Given the description of an element on the screen output the (x, y) to click on. 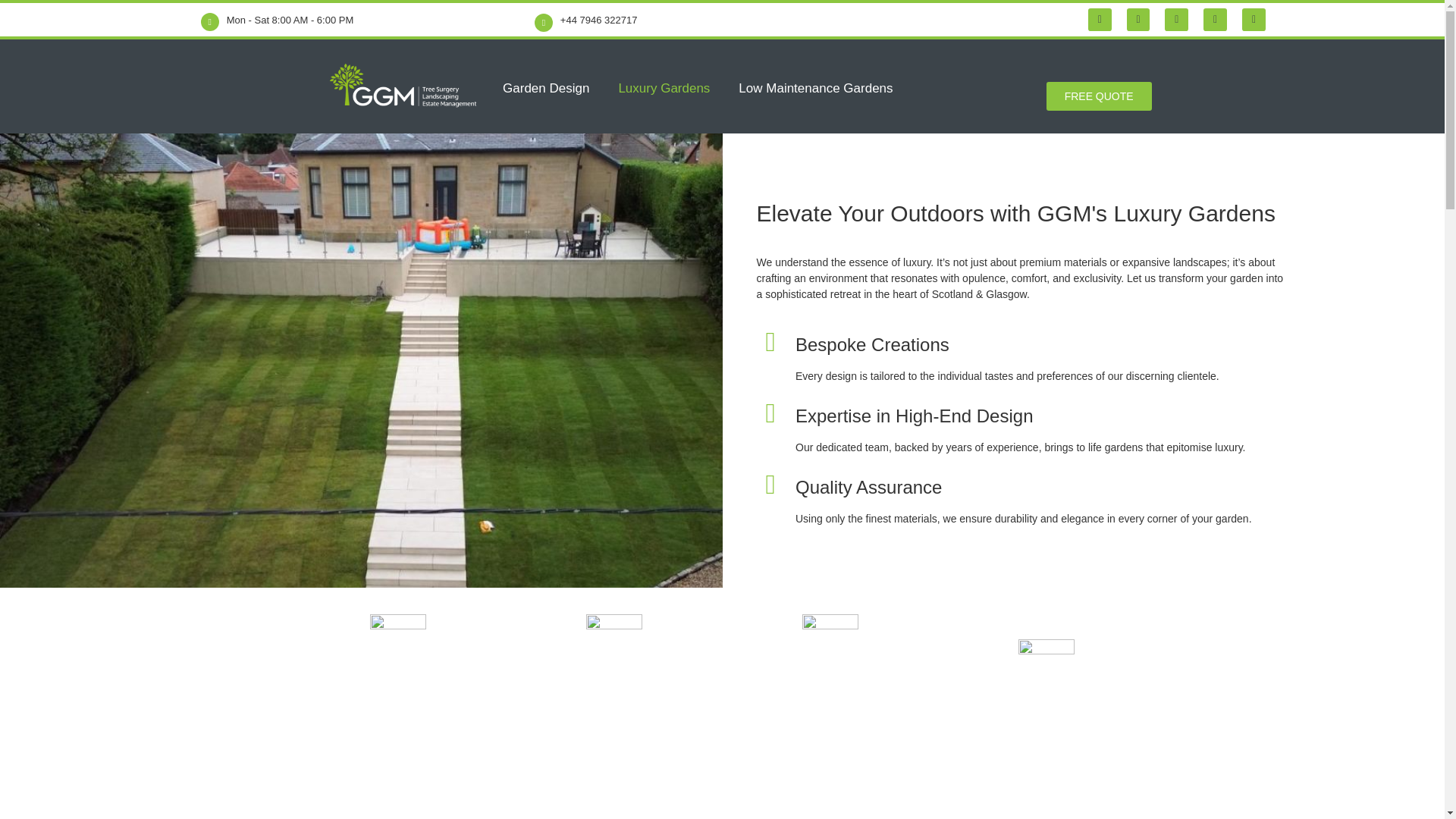
Luxury Gardens (663, 87)
Low Maintenance Gardens (815, 87)
Garden Design (545, 87)
FREE QUOTE (1098, 95)
